Given the description of an element on the screen output the (x, y) to click on. 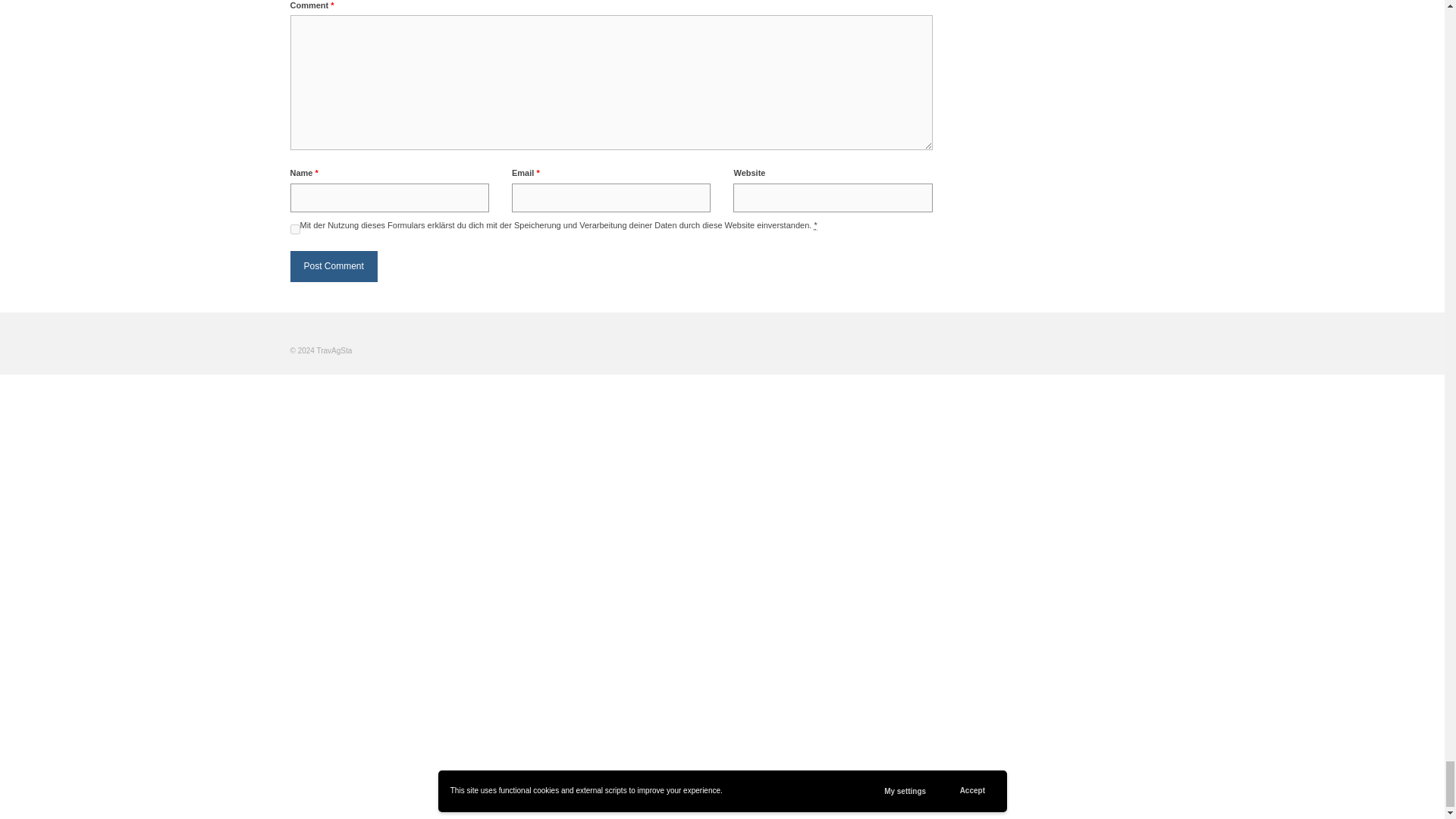
1 (294, 228)
Post Comment (333, 265)
